Given the description of an element on the screen output the (x, y) to click on. 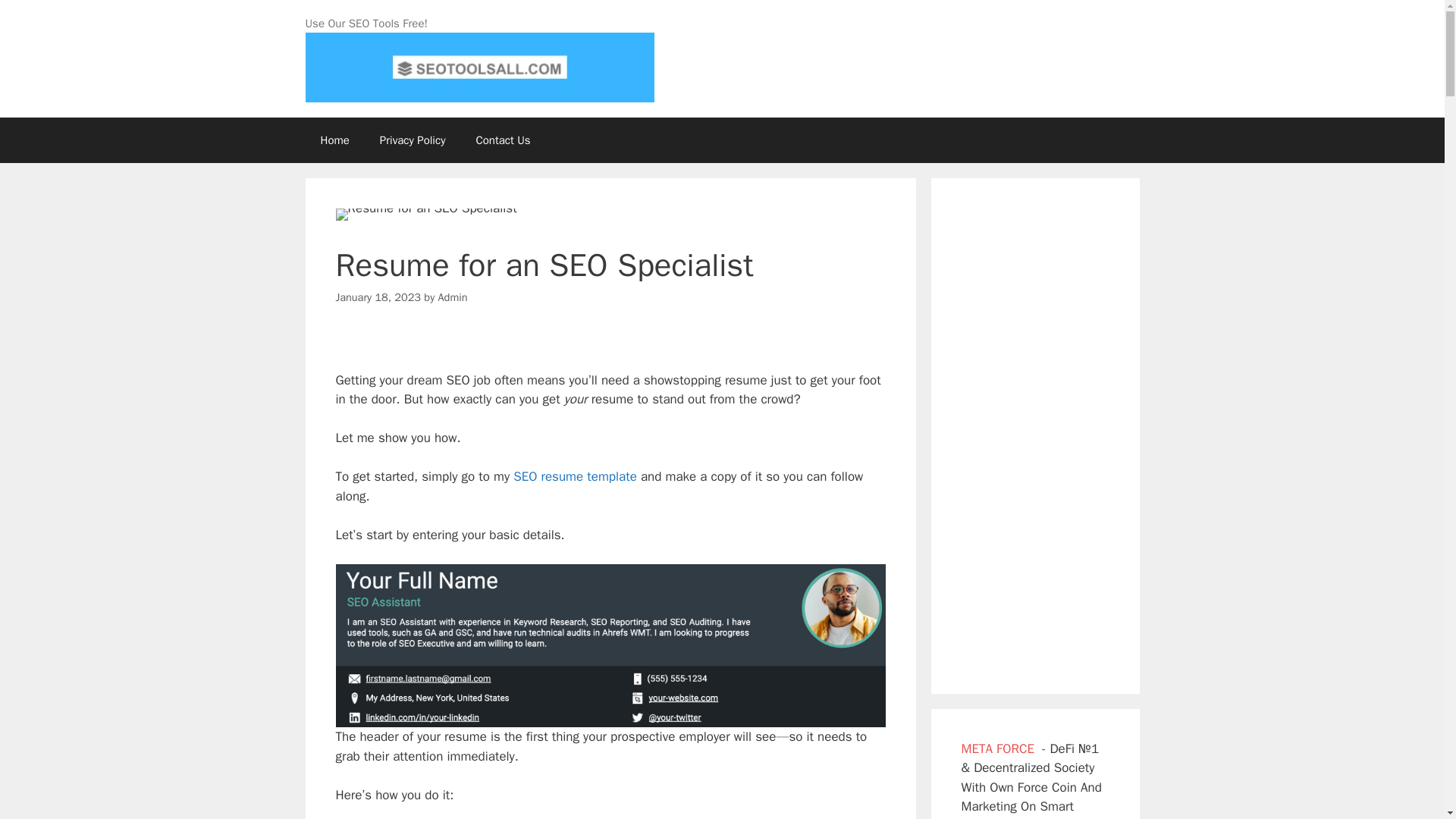
SEO resume template (575, 476)
Admin (452, 296)
Resume for an SEO Specialist (425, 214)
View all posts by Admin (452, 296)
Contact Us (502, 139)
Home (334, 139)
Privacy Policy (413, 139)
Advertisement (1034, 435)
